Given the description of an element on the screen output the (x, y) to click on. 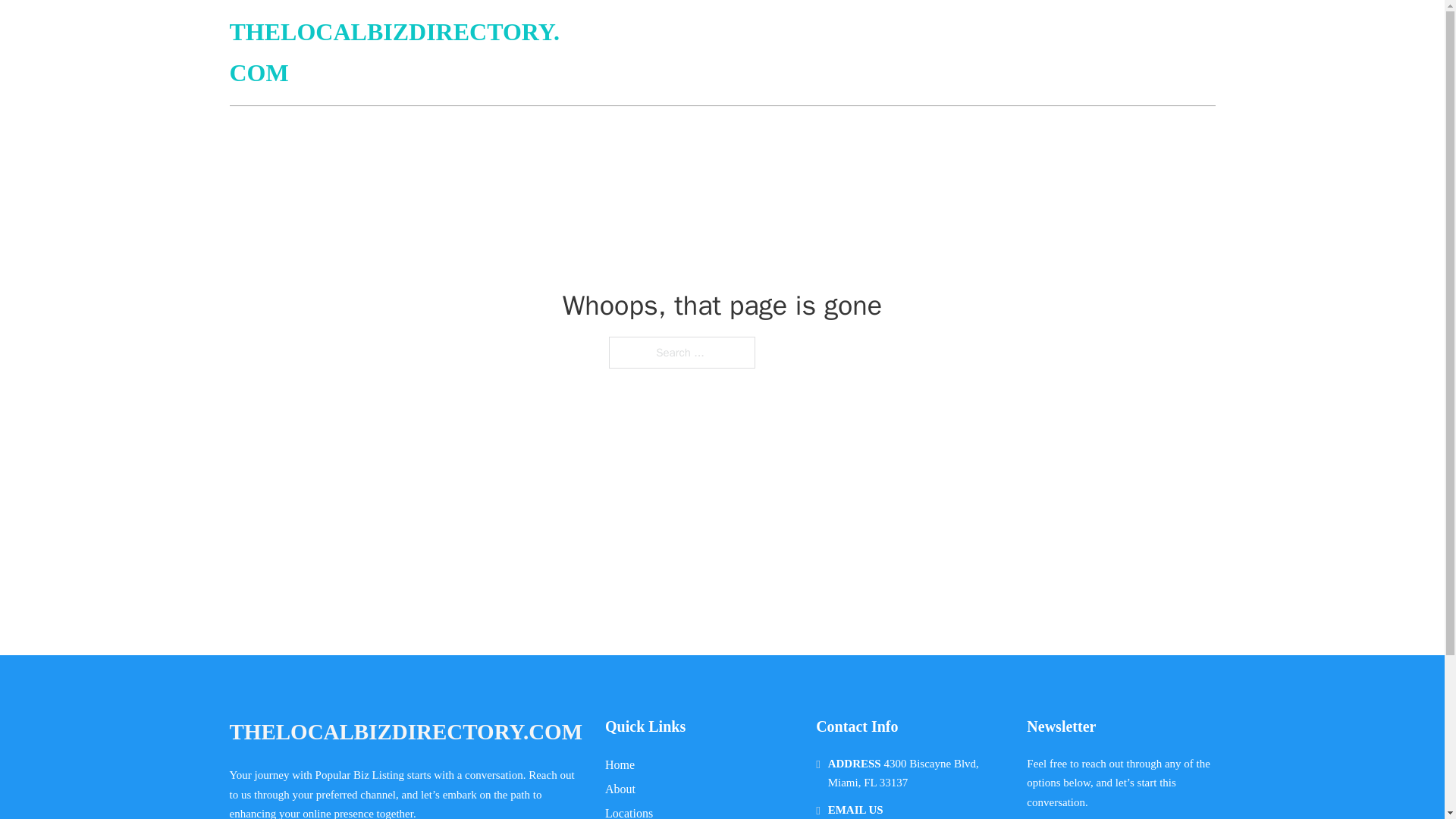
Home (619, 764)
THELOCALBIZDIRECTORY.COM (405, 732)
Locations (628, 811)
About (619, 788)
THELOCALBIZDIRECTORY.COM (400, 52)
LOCATIONS (1105, 53)
HOME (1032, 53)
